Given the description of an element on the screen output the (x, y) to click on. 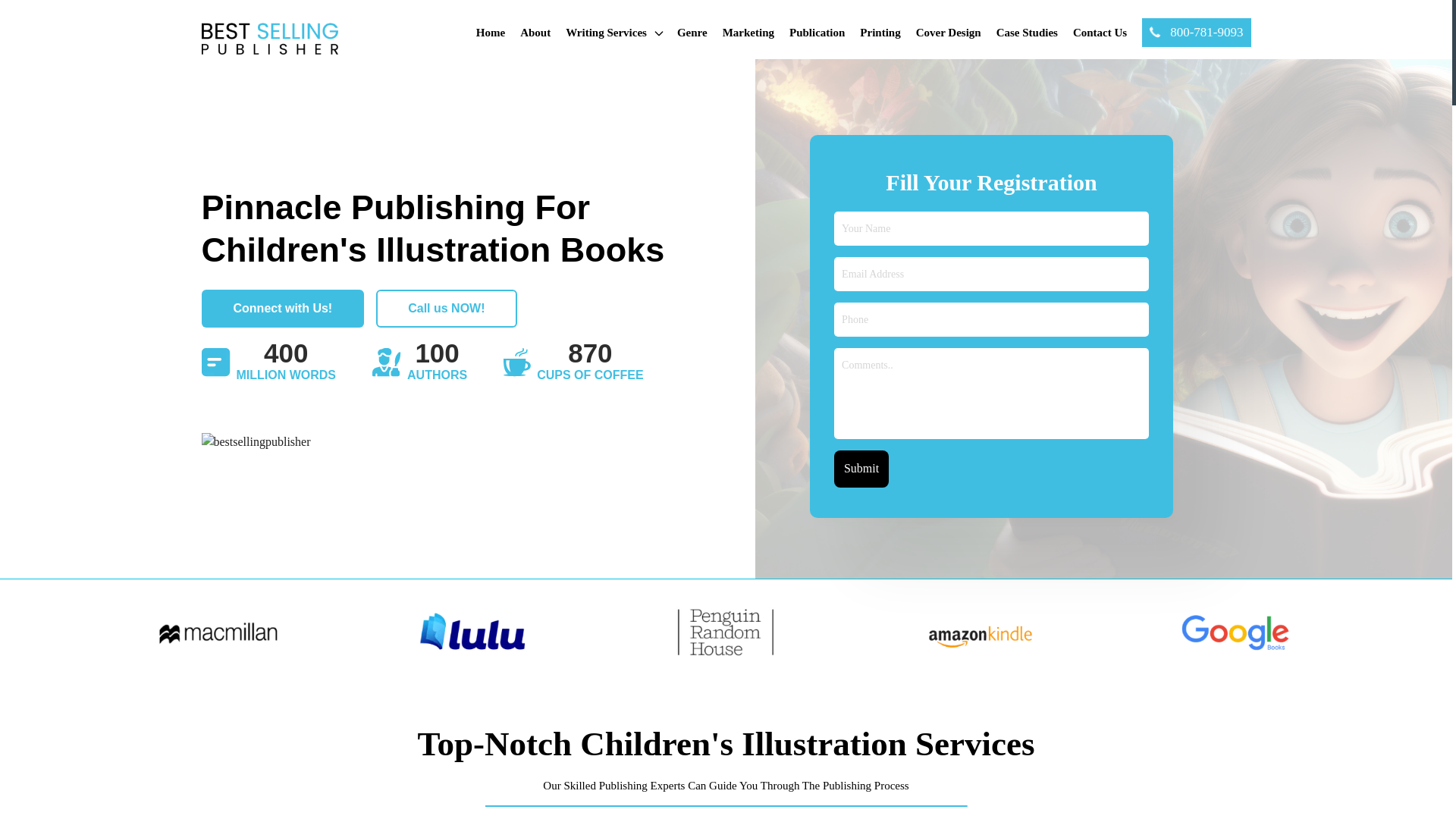
Genre (692, 32)
800-781-9093 (1195, 32)
Case Studies (1026, 32)
Submit (861, 469)
Cover Design (948, 32)
Contact Us (1099, 32)
Marketing (748, 32)
Writing Services (614, 32)
Publication (816, 32)
Printing (879, 32)
Call us NOW! (445, 308)
About (534, 32)
Connect with Us! (283, 308)
Home (490, 32)
